Given the description of an element on the screen output the (x, y) to click on. 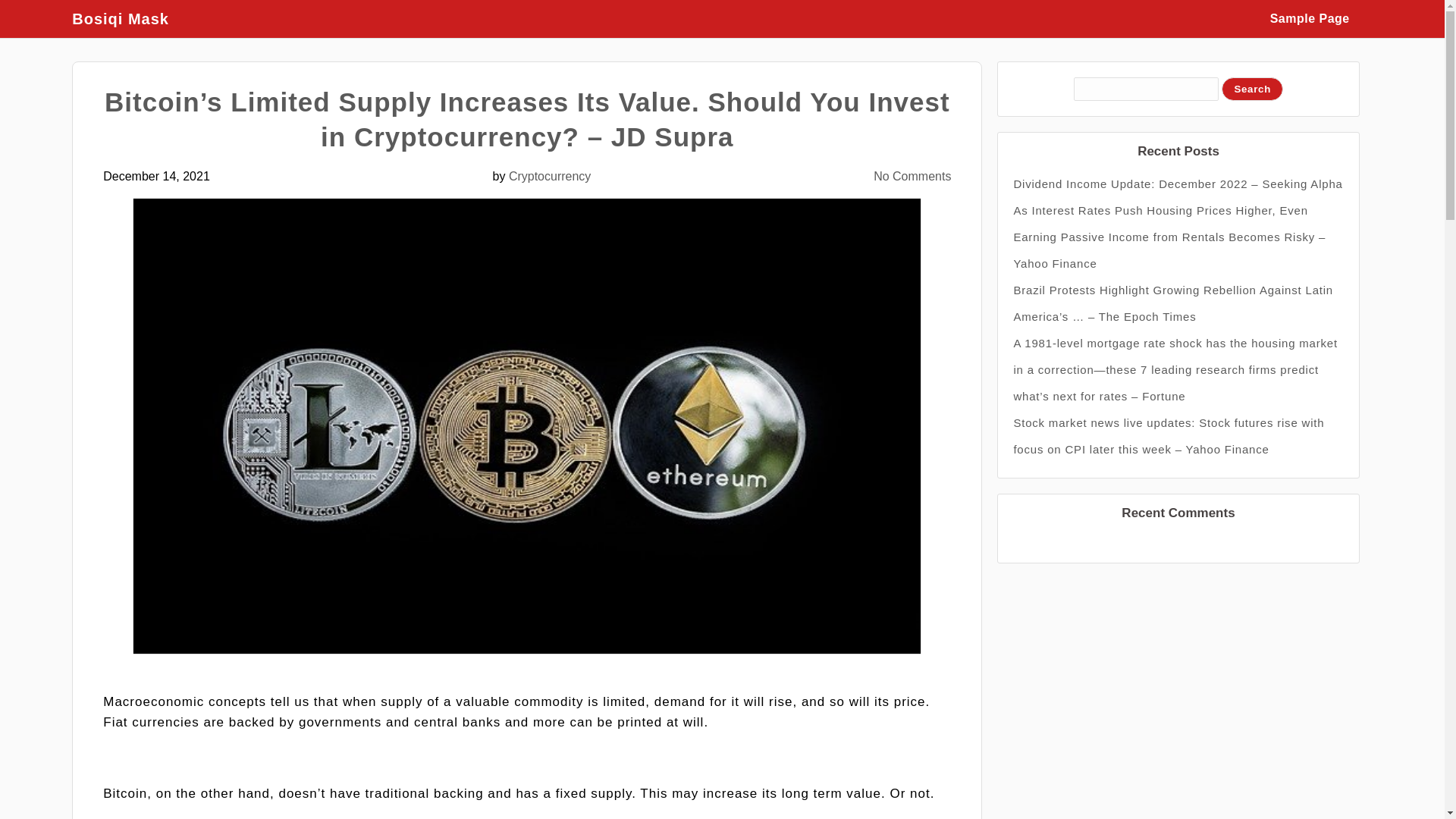
Search (1251, 88)
Search (1251, 88)
Posts by Cryptocurrency (549, 175)
No Comments (911, 175)
Sample Page (1309, 18)
Bosiqi Mask (127, 18)
Cryptocurrency (549, 175)
